Given the description of an element on the screen output the (x, y) to click on. 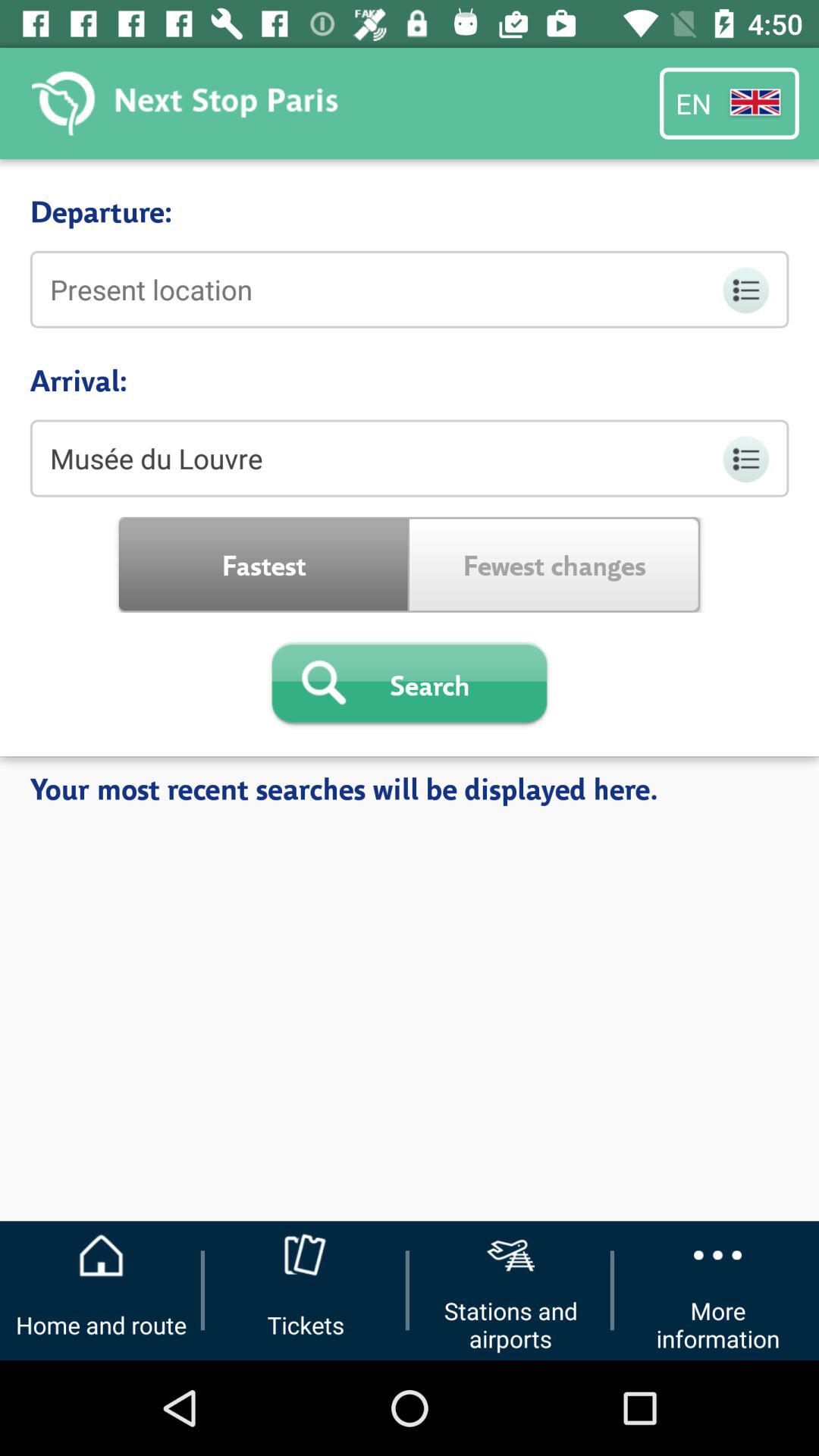
open icon above the search icon (263, 564)
